Given the description of an element on the screen output the (x, y) to click on. 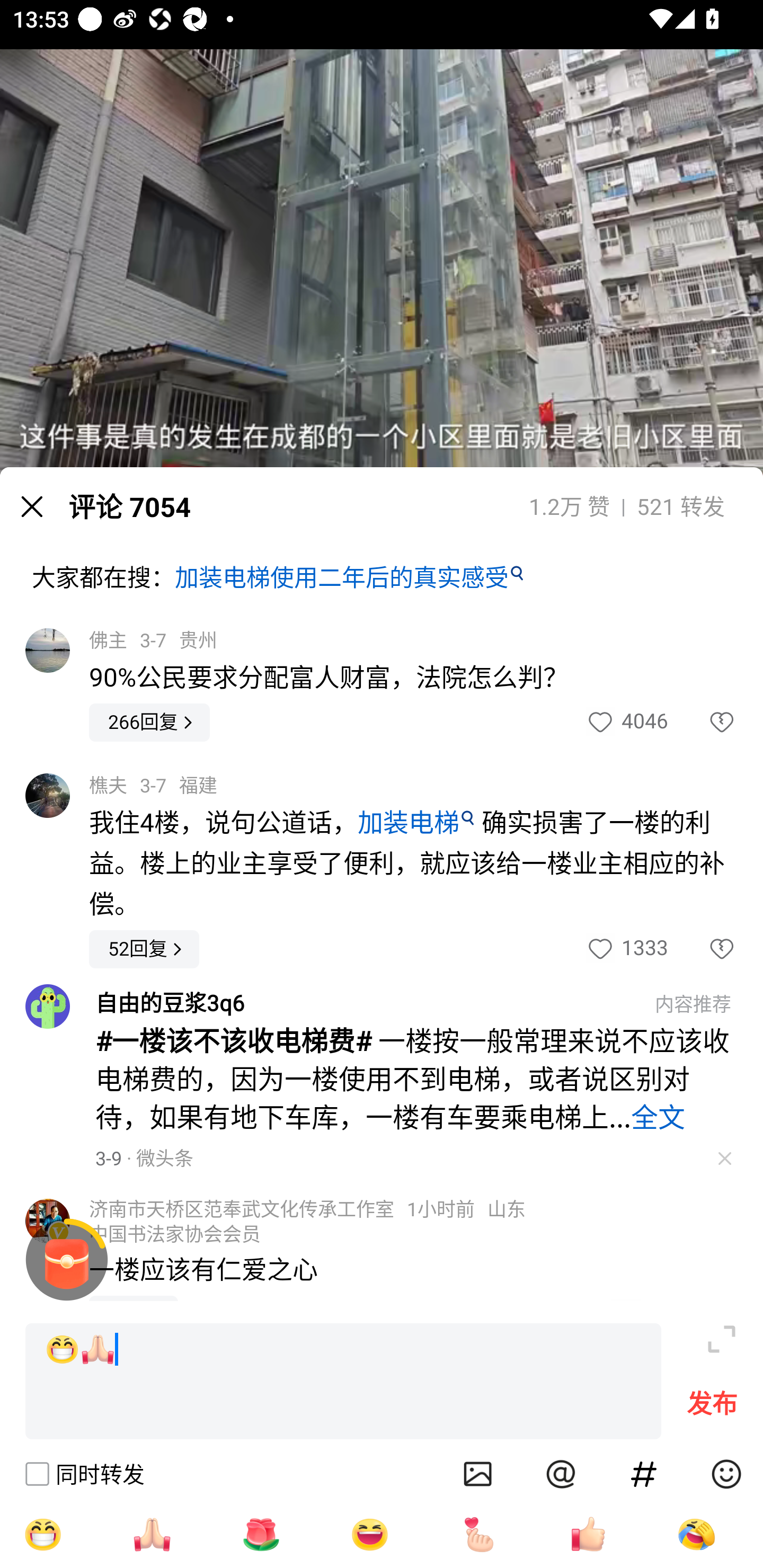
[呲牙][祈祷] (343, 1381)
全屏编辑 (721, 1338)
发布 (711, 1407)
同时转发 (83, 1473)
相册 (478, 1473)
at (560, 1473)
话题 (643, 1473)
表情 (726, 1473)
[呲牙] (42, 1534)
[祈祷] (152, 1534)
[玫瑰] (261, 1534)
[大笑] (369, 1534)
[比心] (478, 1534)
[赞] (588, 1534)
[捂脸] (696, 1534)
